Given the description of an element on the screen output the (x, y) to click on. 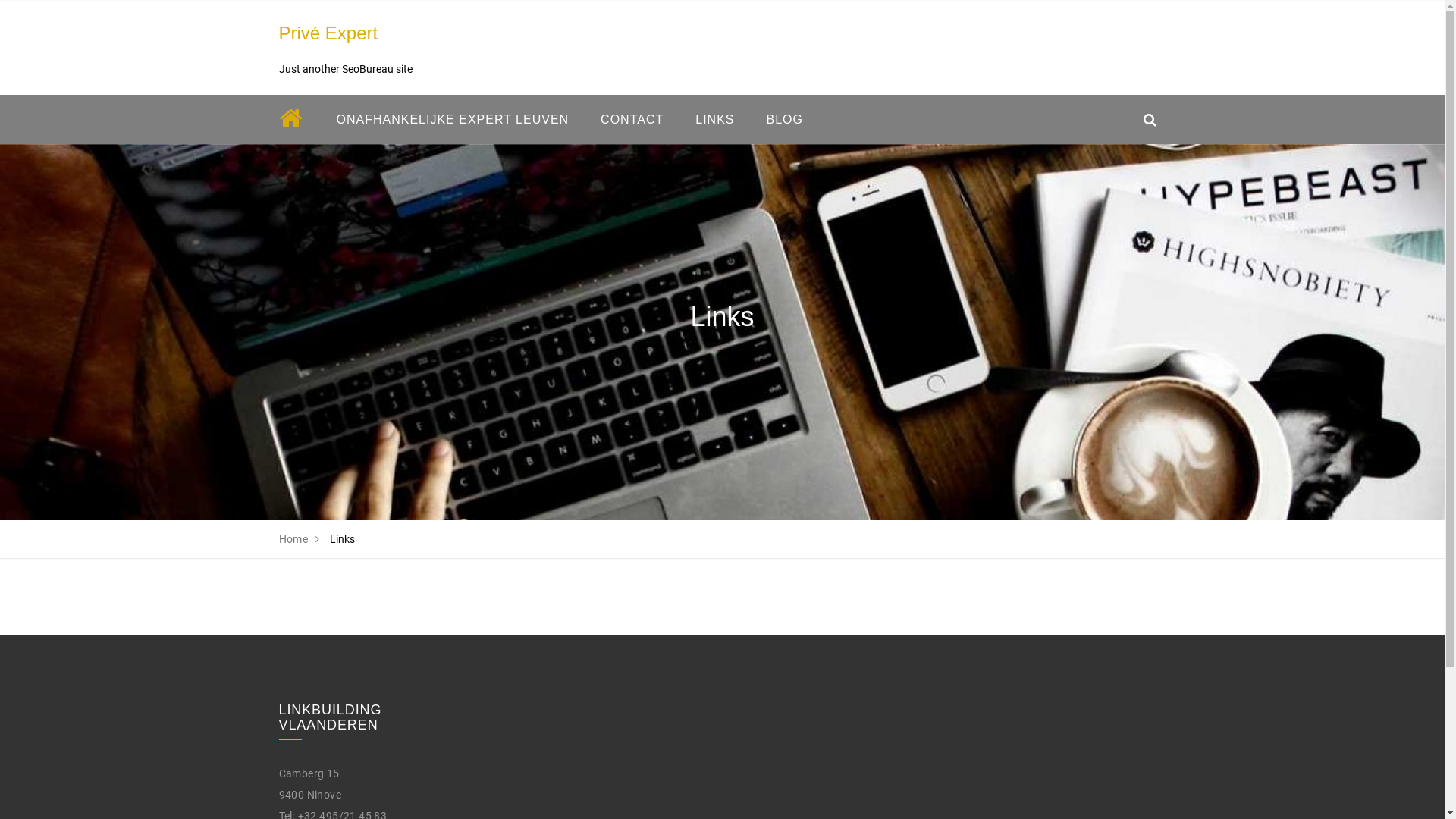
LINKS Element type: text (714, 119)
CONTACT Element type: text (631, 119)
BLOG Element type: text (784, 119)
Home Element type: text (293, 539)
ONAFHANKELIJKE EXPERT LEUVEN Element type: text (452, 119)
search_icon Element type: hover (1148, 119)
